Given the description of an element on the screen output the (x, y) to click on. 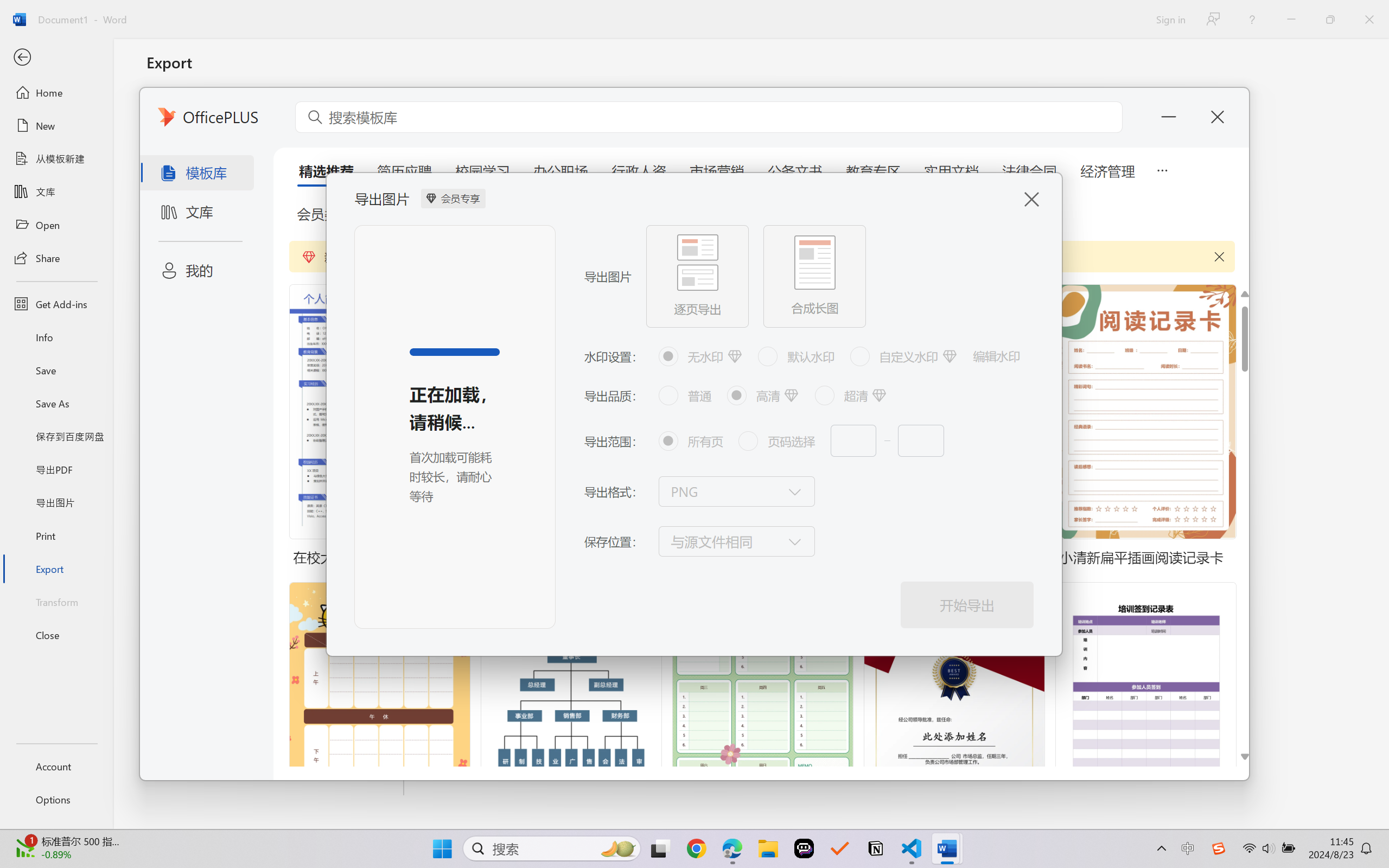
Info (56, 337)
